Given the description of an element on the screen output the (x, y) to click on. 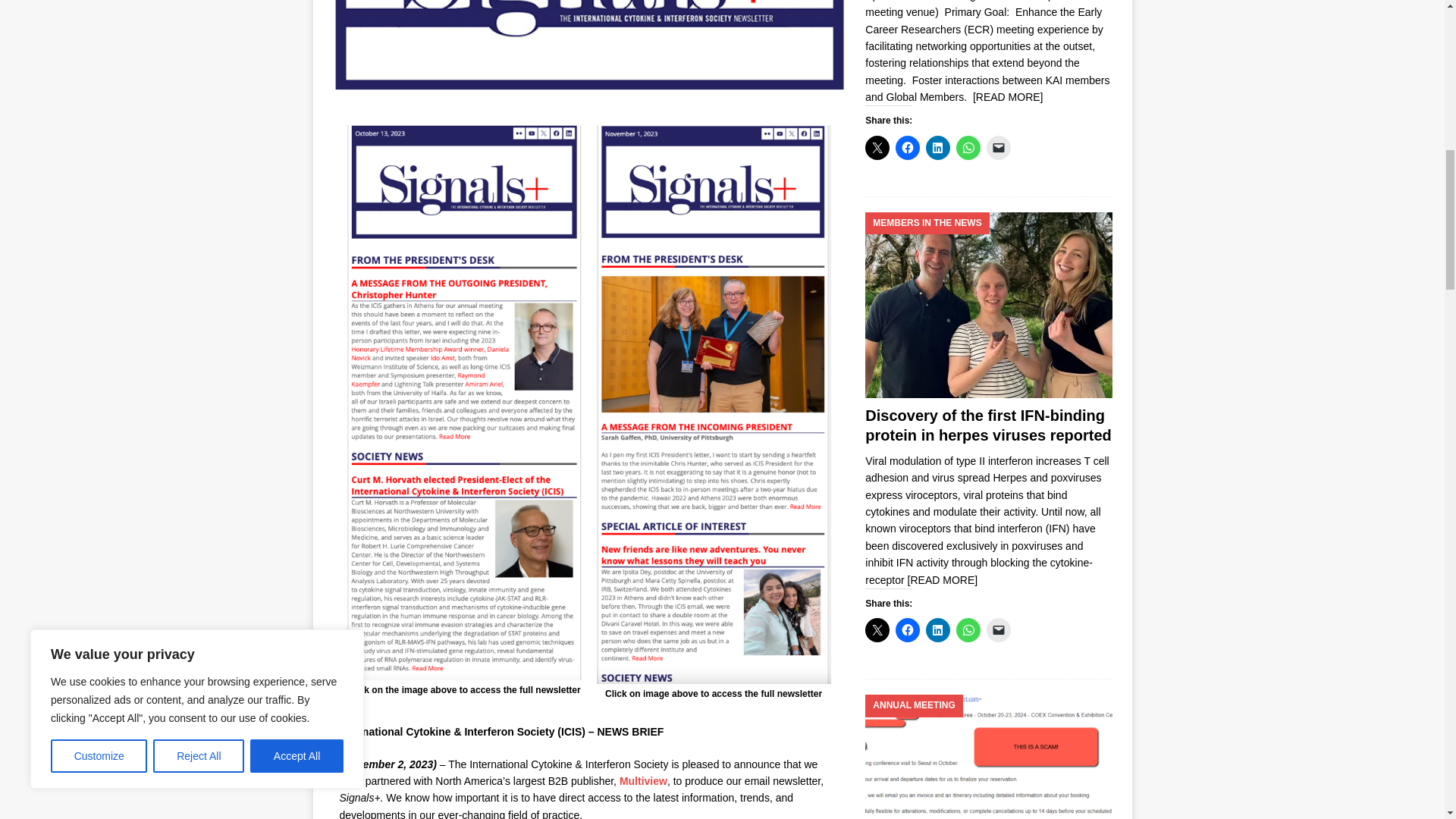
banner (588, 47)
